Given the description of an element on the screen output the (x, y) to click on. 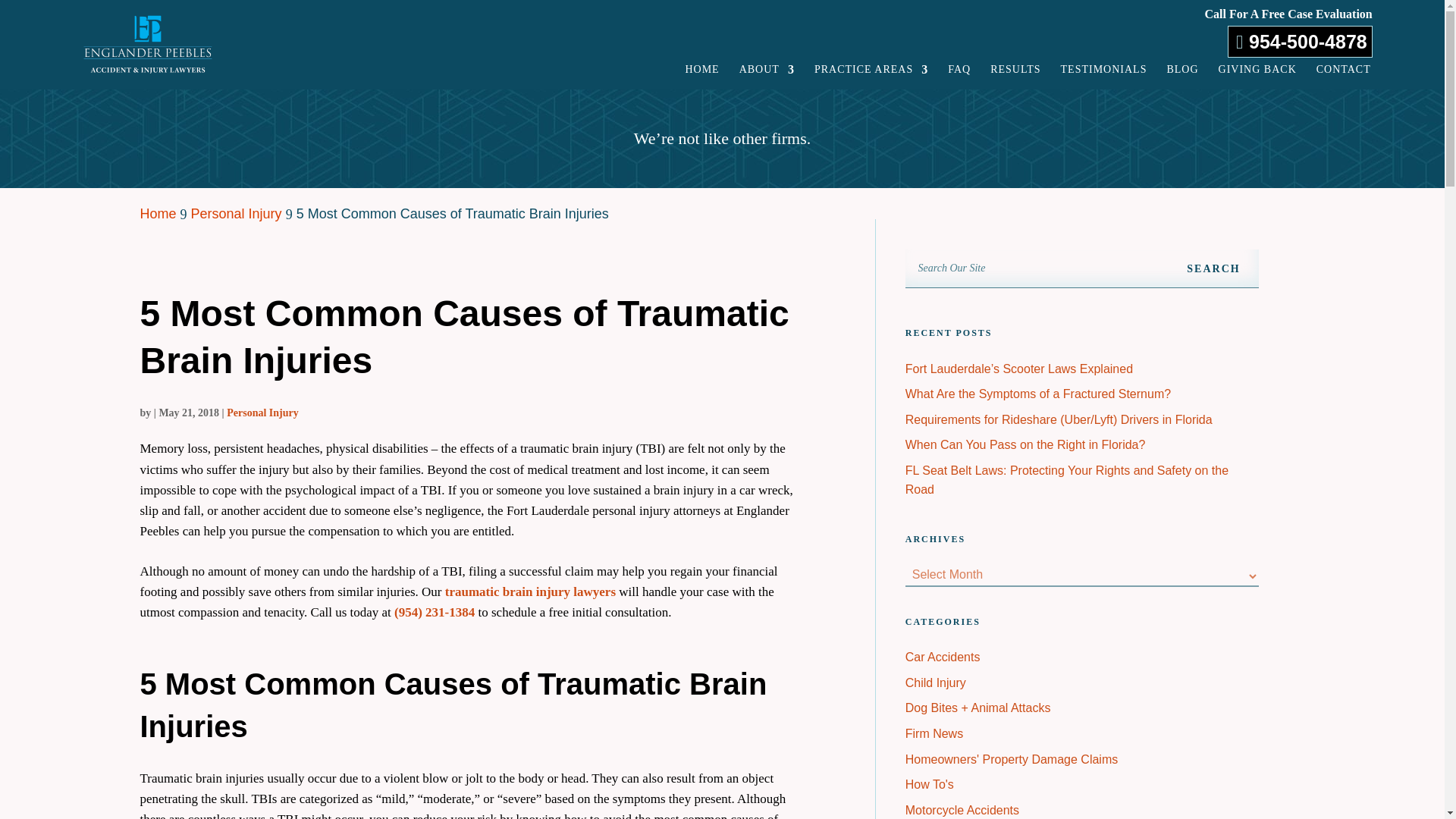
Search (1212, 268)
FAQ (959, 72)
954-500-4878 (1300, 41)
ABOUT (766, 72)
Fort Lauderdale Personal Injury Lawyers Logo (147, 44)
HOME (701, 72)
RESULTS (1015, 72)
Search (1212, 268)
PRACTICE AREAS (870, 72)
TESTIMONIALS (1104, 72)
